Given the description of an element on the screen output the (x, y) to click on. 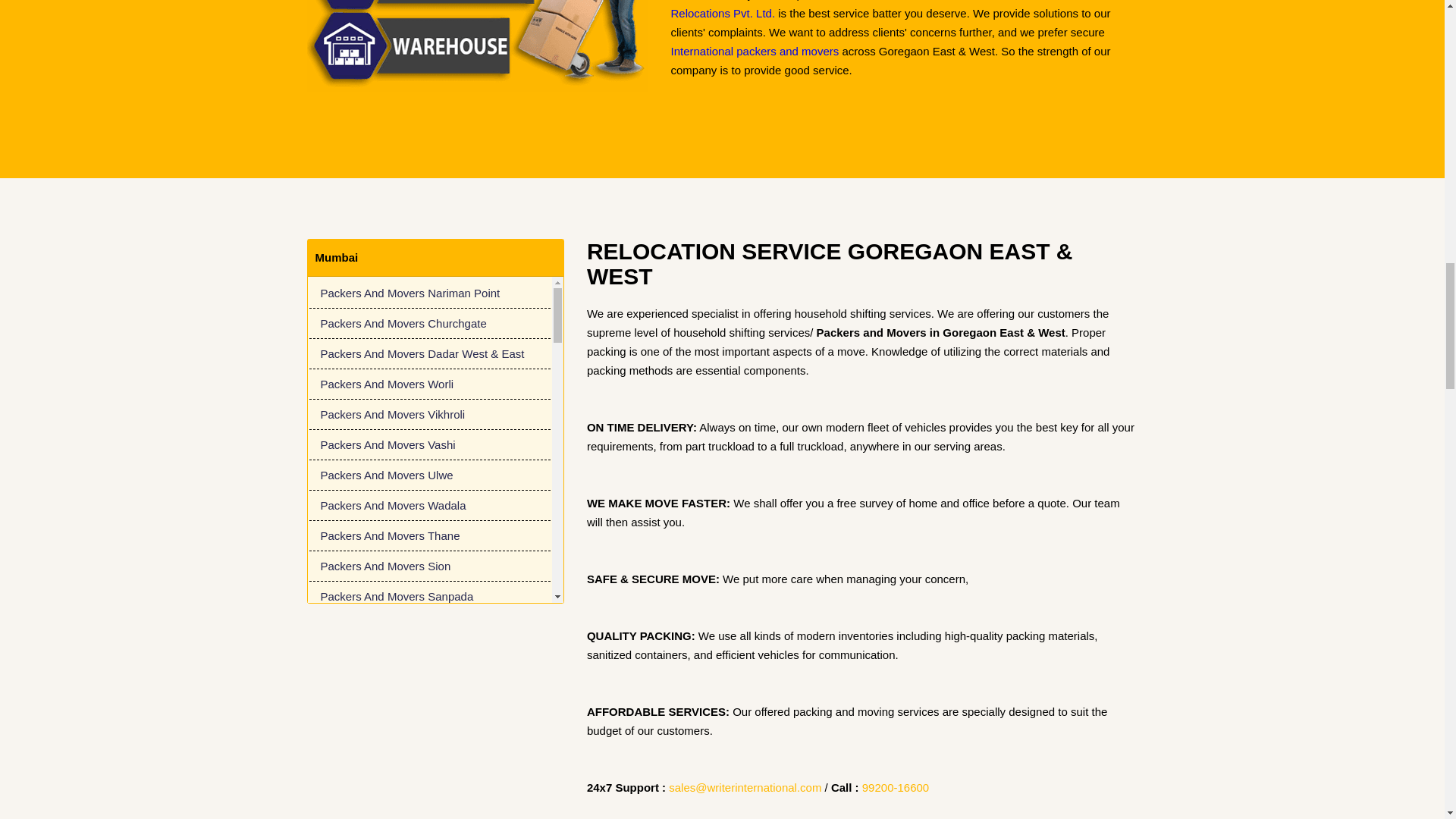
Packers And Movers Thane (429, 535)
Packers And Movers Vikhroli (429, 414)
Writer Relocations Pvt. Ltd. (873, 9)
Packers And Movers Worli (429, 384)
Packers And Movers Nariman Point (429, 293)
Packers And Movers Churchgate (429, 323)
International packers and movers (753, 51)
Packers And Movers Vashi (429, 444)
Packers And Movers Wadala (429, 505)
Packers And Movers Ulwe (429, 475)
